Given the description of an element on the screen output the (x, y) to click on. 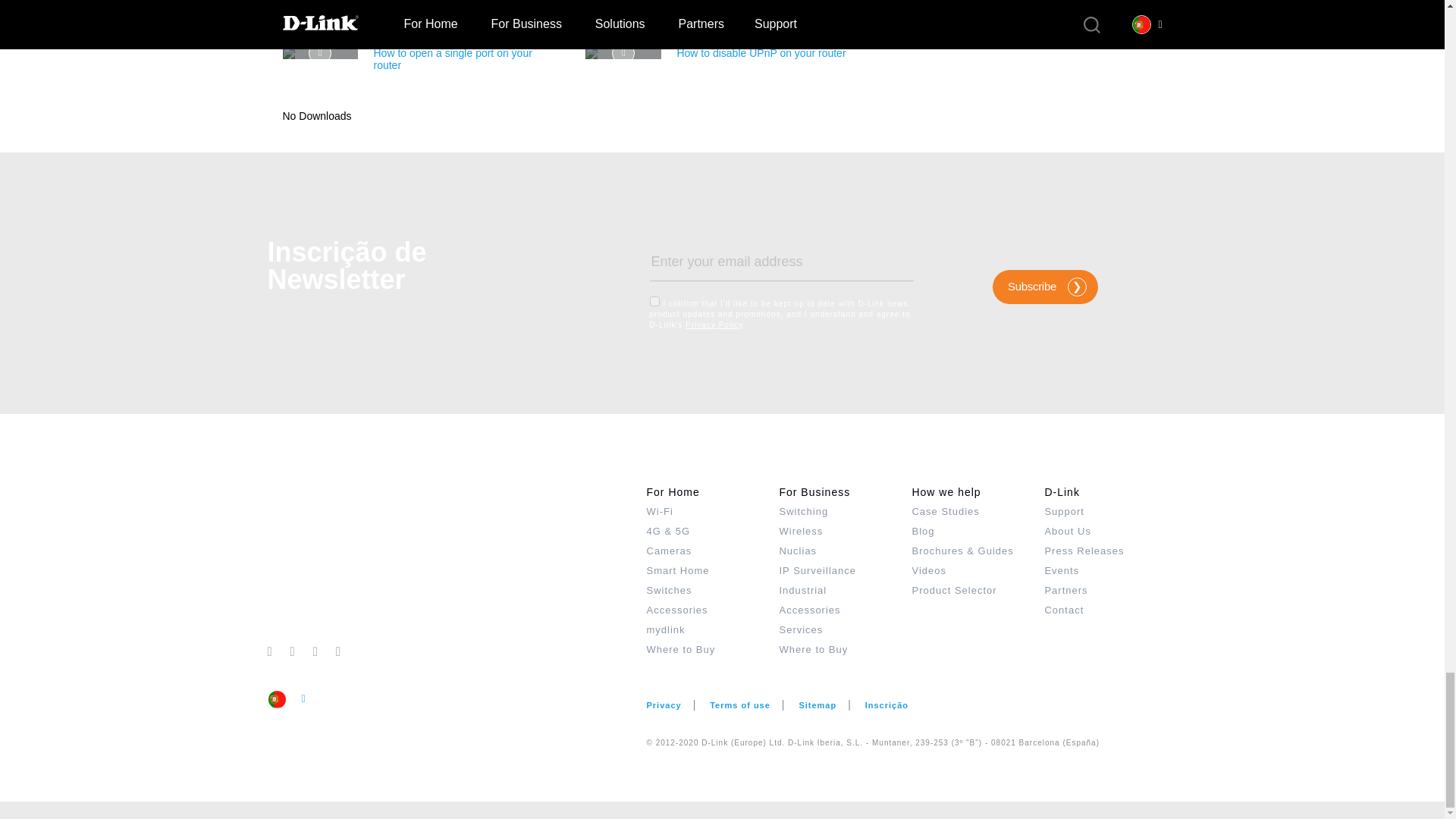
True (654, 301)
D-Link (456, 561)
